Given the description of an element on the screen output the (x, y) to click on. 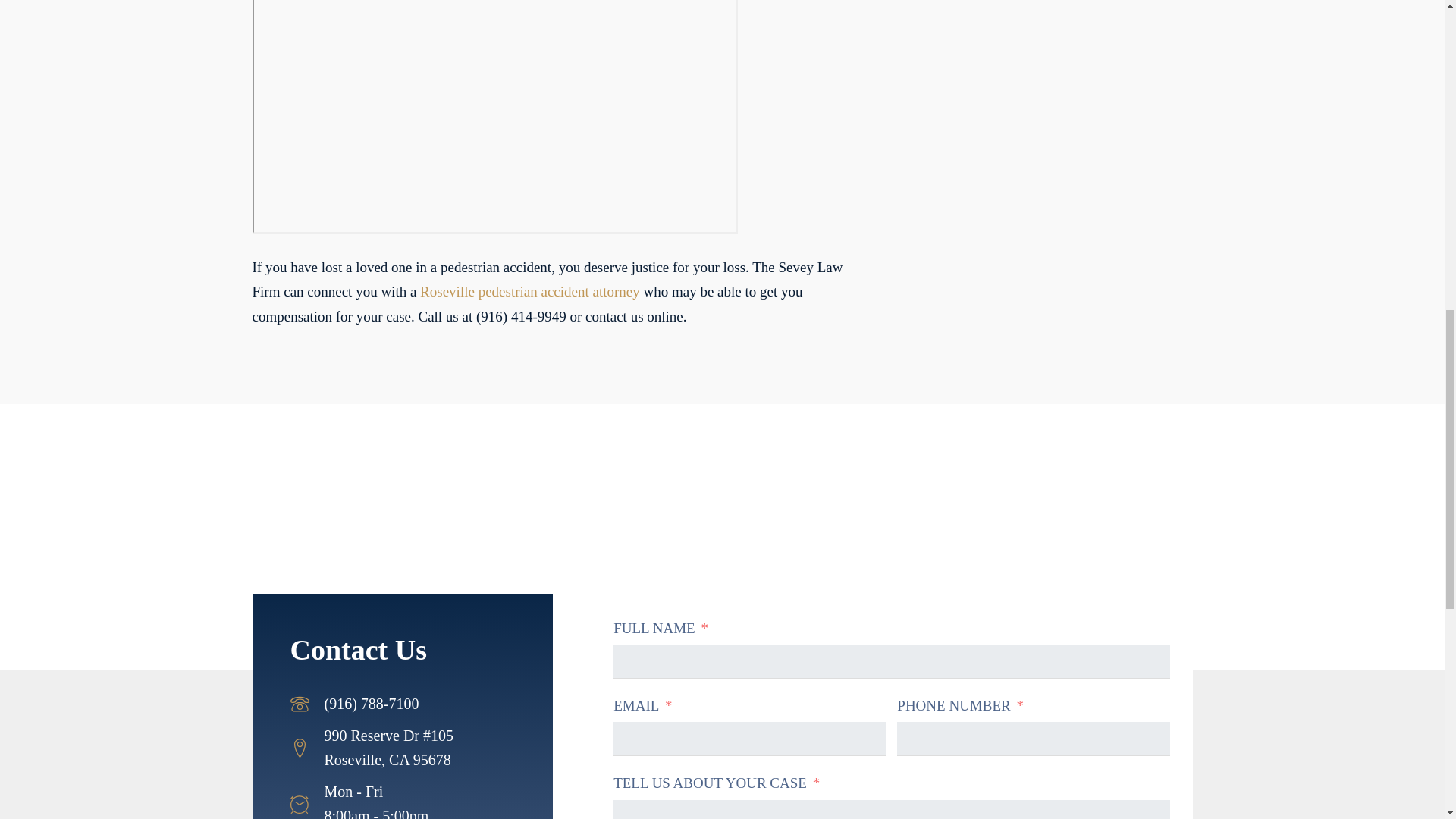
Roseville pedestrian accident attorney (530, 291)
